Given the description of an element on the screen output the (x, y) to click on. 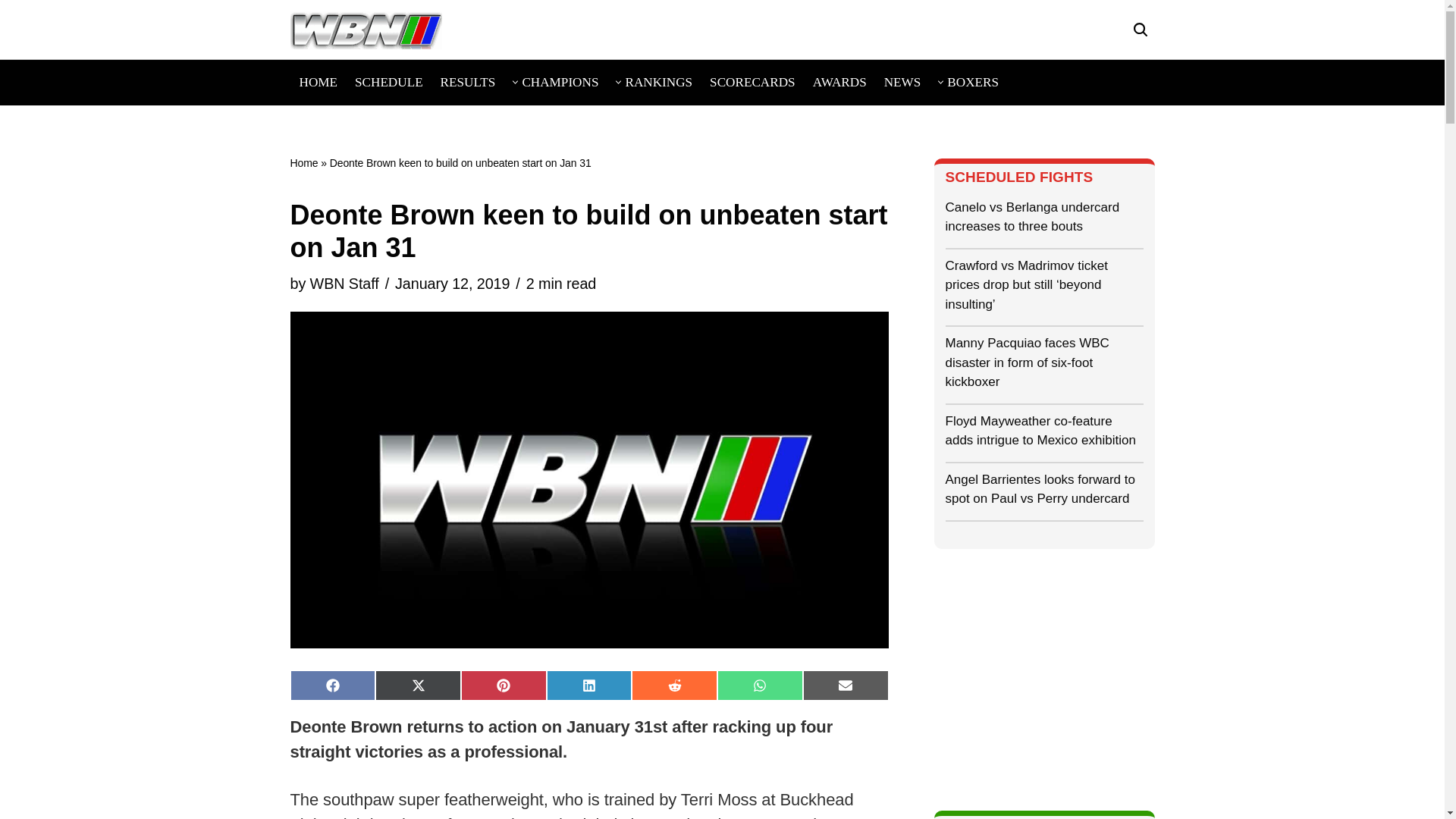
AWARDS (839, 81)
SCORECARDS (752, 81)
BOXERS (972, 81)
RANKINGS (658, 81)
RESULTS (468, 81)
SCHEDULE (389, 81)
HOME (317, 81)
Skip to content (11, 31)
NEWS (902, 81)
CHAMPIONS (559, 81)
